Given the description of an element on the screen output the (x, y) to click on. 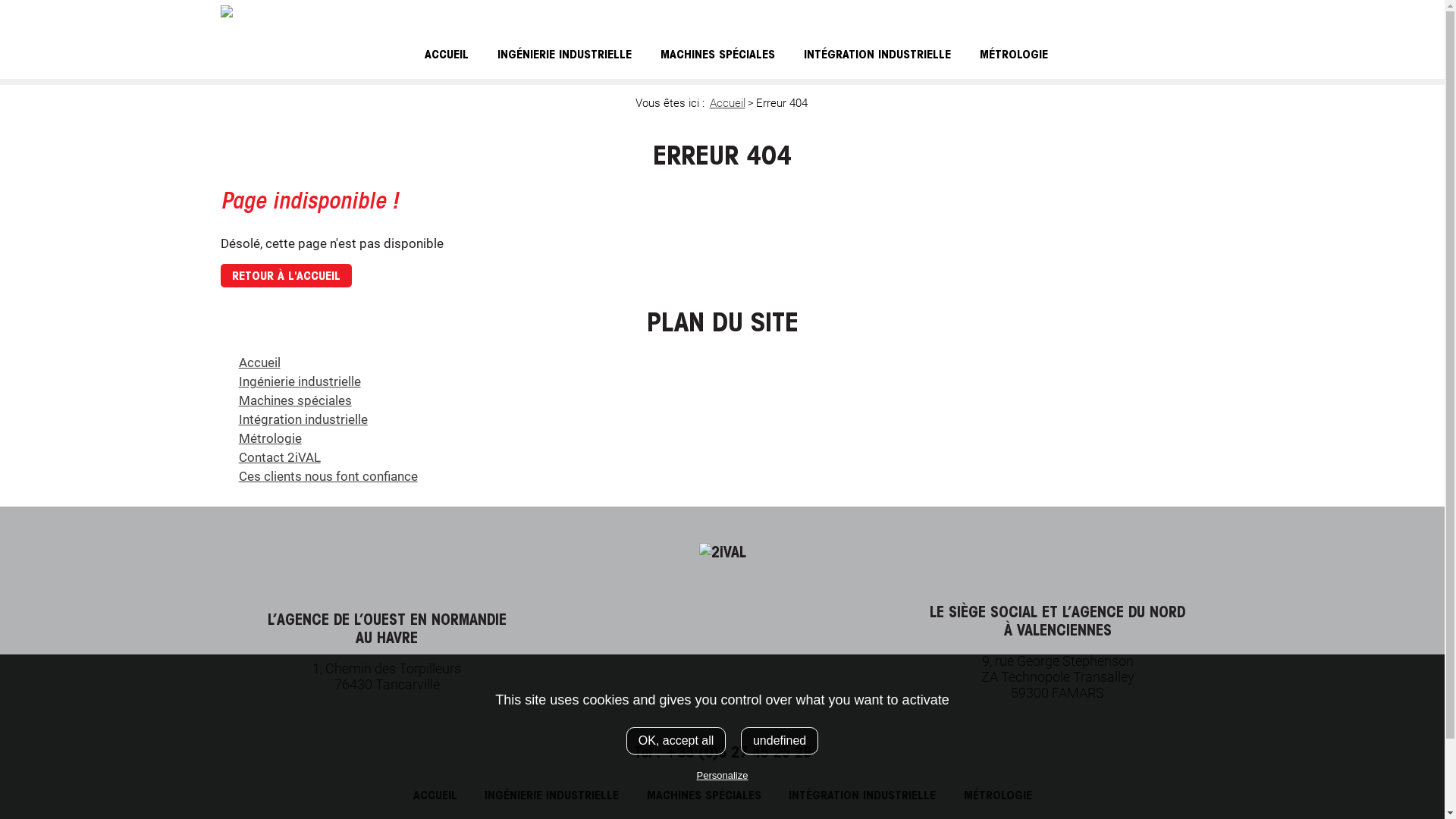
Personalize Element type: text (722, 775)
undefined Element type: text (779, 740)
Tel : +33 (0)3 27 45 25 29 Element type: text (722, 752)
Recrutement Element type: text (1108, 12)
Accueil Element type: text (259, 362)
Youytube Element type: hover (1219, 9)
Contact 2iVAL Element type: text (279, 456)
Recherche Element type: hover (1194, 9)
OK, accept all Element type: text (676, 740)
ACCUEIL Element type: text (445, 53)
Accueil Element type: text (727, 102)
ACCUEIL Element type: text (434, 794)
Ces clients nous font confiance Element type: text (327, 475)
Contact Element type: text (1165, 12)
LinkedIn Element type: hover (1206, 9)
